Given the description of an element on the screen output the (x, y) to click on. 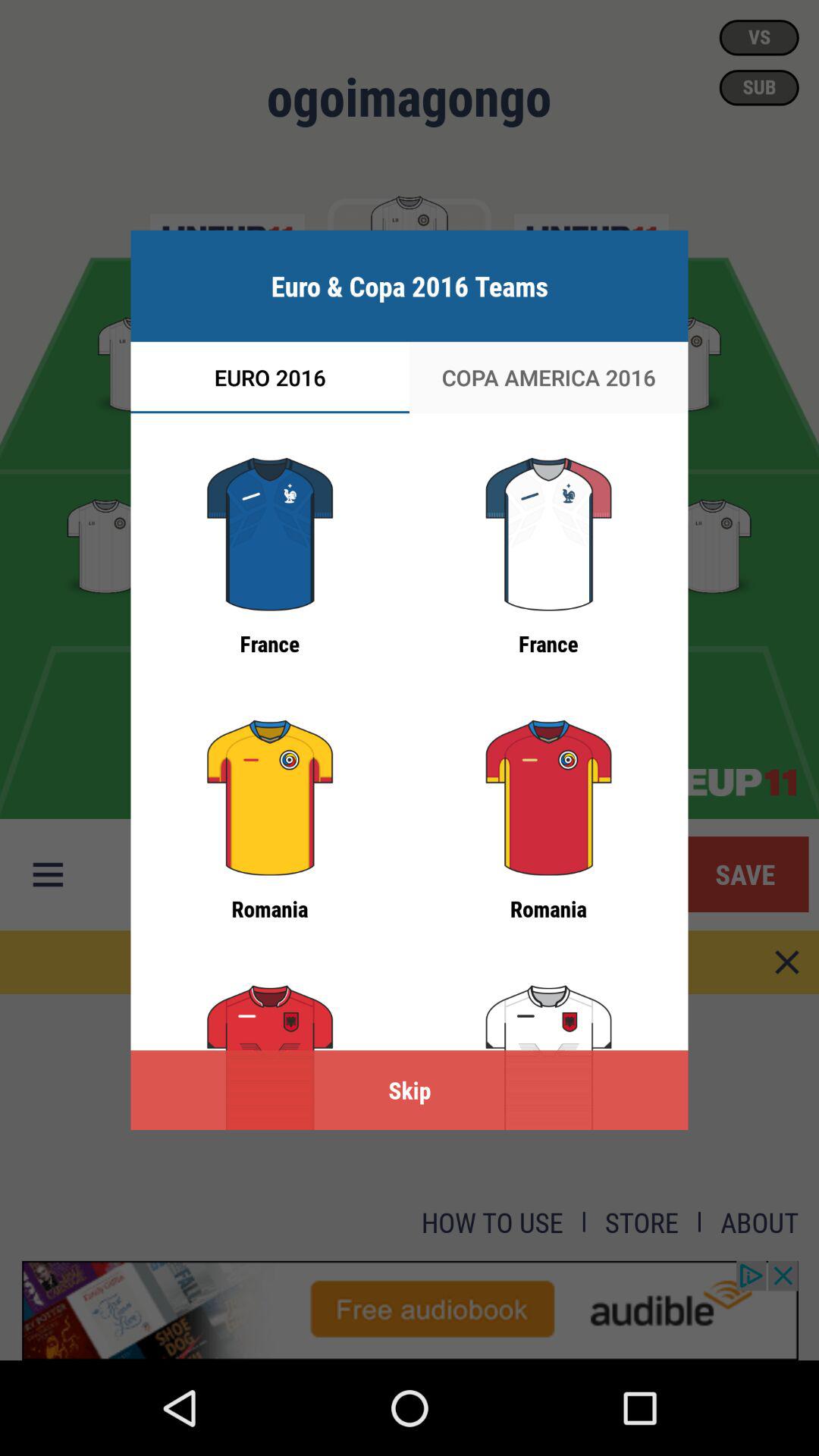
select the skip at the bottom (409, 1090)
